Given the description of an element on the screen output the (x, y) to click on. 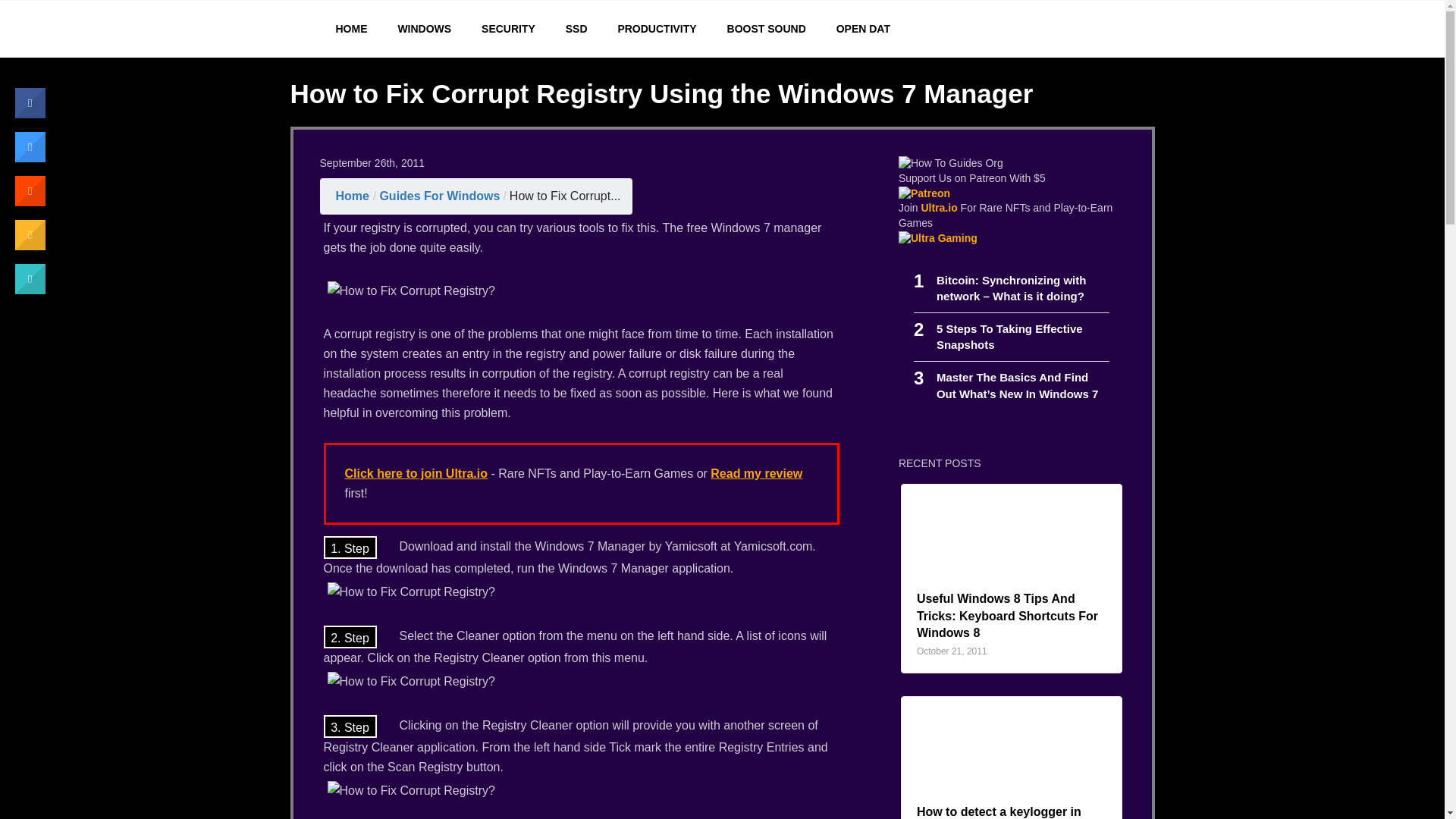
Security Tweaks (508, 28)
OPEN DAT (863, 28)
How to Fix Corrupt Registry Using the Windows 7 Manager (565, 195)
SECURITY (508, 28)
SSD (576, 28)
BOOST SOUND (766, 28)
SSD (576, 28)
Productivity (656, 28)
Boost Sound Above 100 (766, 28)
Read my review (756, 472)
HOME (339, 28)
Guides For Windows (1009, 337)
How to detect a keylogger in Windows 7 (438, 195)
